Given the description of an element on the screen output the (x, y) to click on. 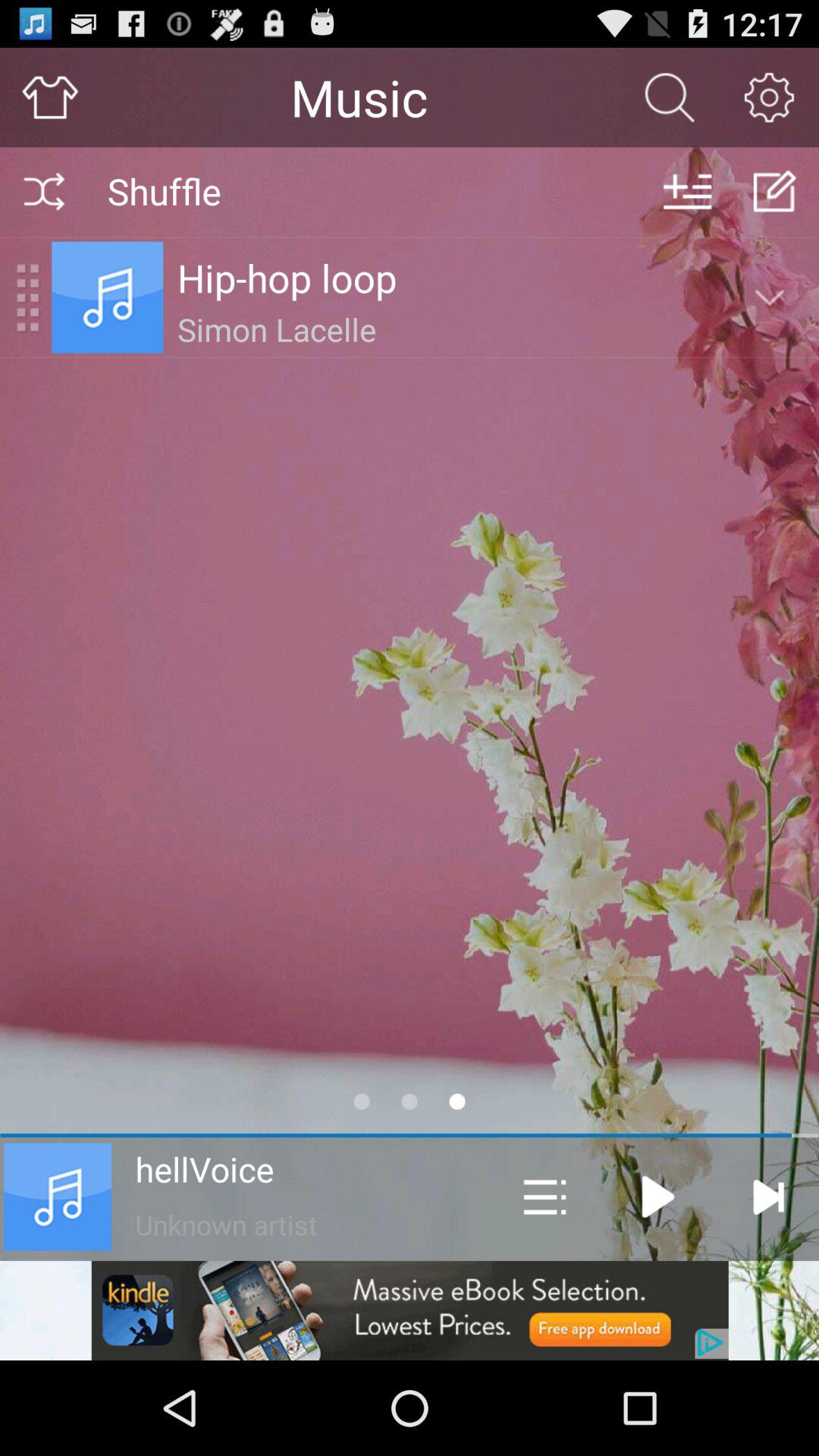
click on the icon left to music icon on the top of the page (27, 297)
click on search icon (669, 97)
click on play button (658, 1196)
click on the forward icon (768, 1196)
click on the icon next to search (769, 97)
